Given the description of an element on the screen output the (x, y) to click on. 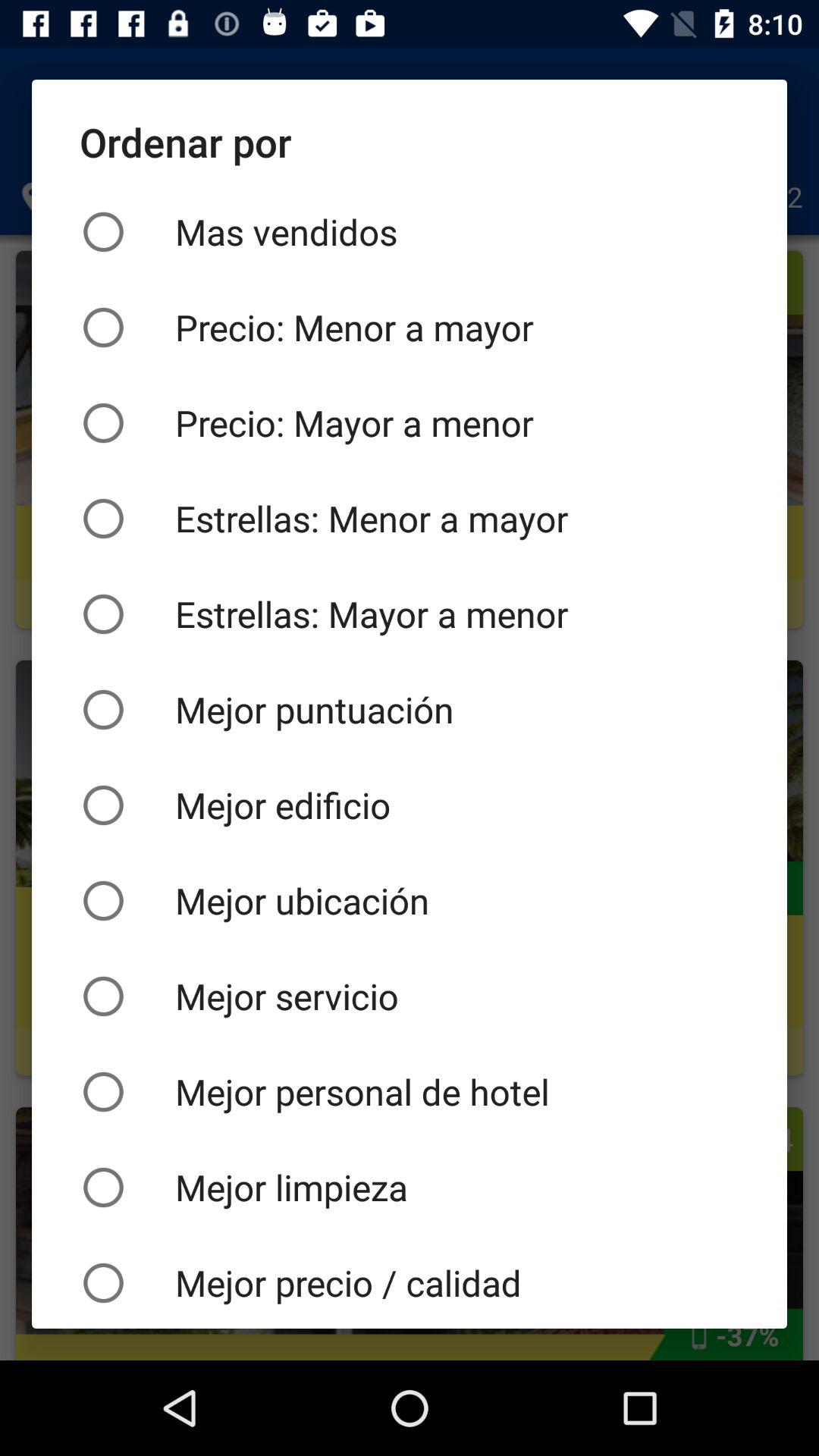
press the icon above the precio menor a item (409, 231)
